Given the description of an element on the screen output the (x, y) to click on. 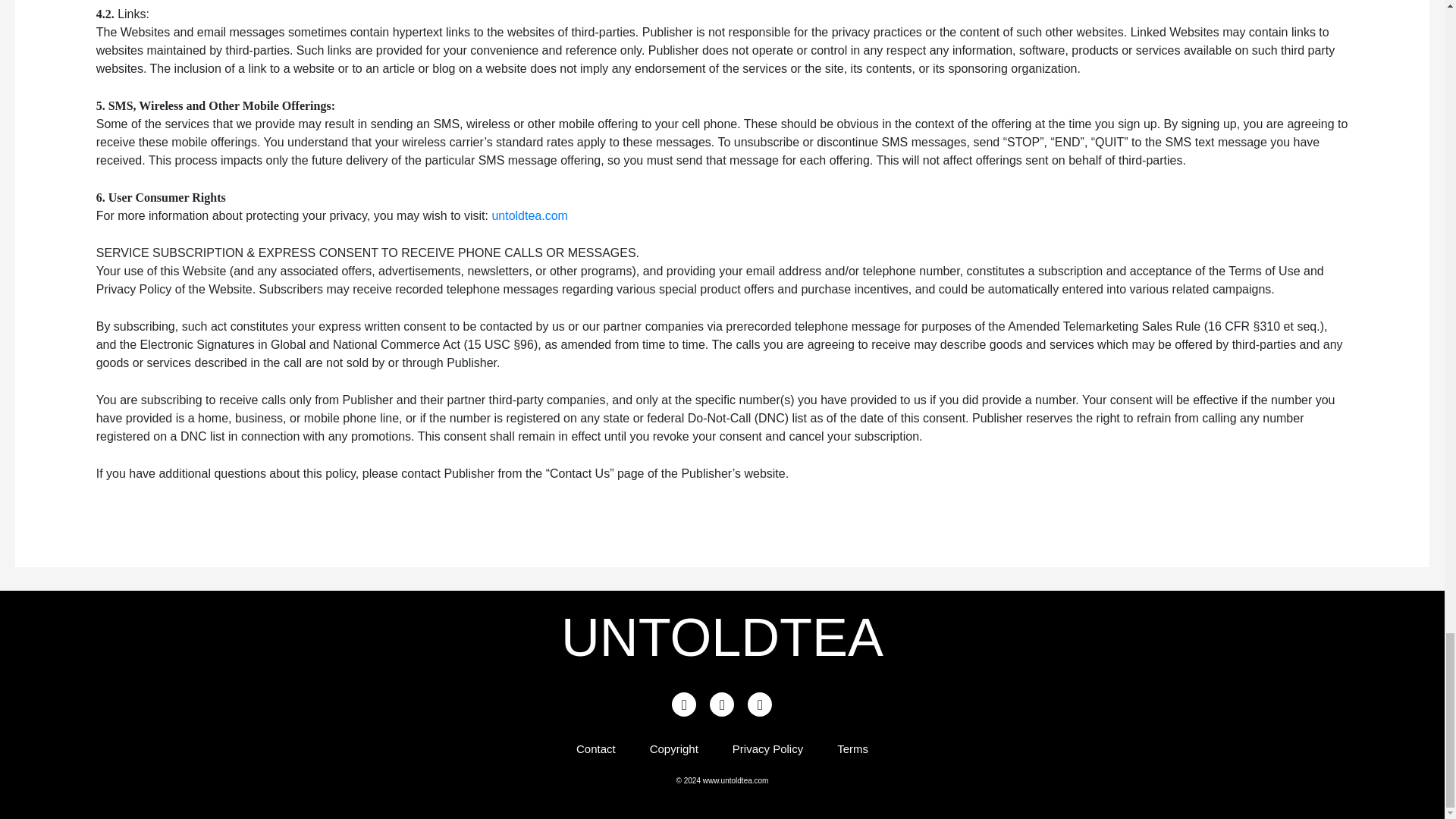
Copyright (673, 748)
UNTOLDTEA (721, 637)
untoldtea.com (529, 215)
Contact (595, 748)
Privacy Policy (767, 748)
Terms (852, 748)
